Given the description of an element on the screen output the (x, y) to click on. 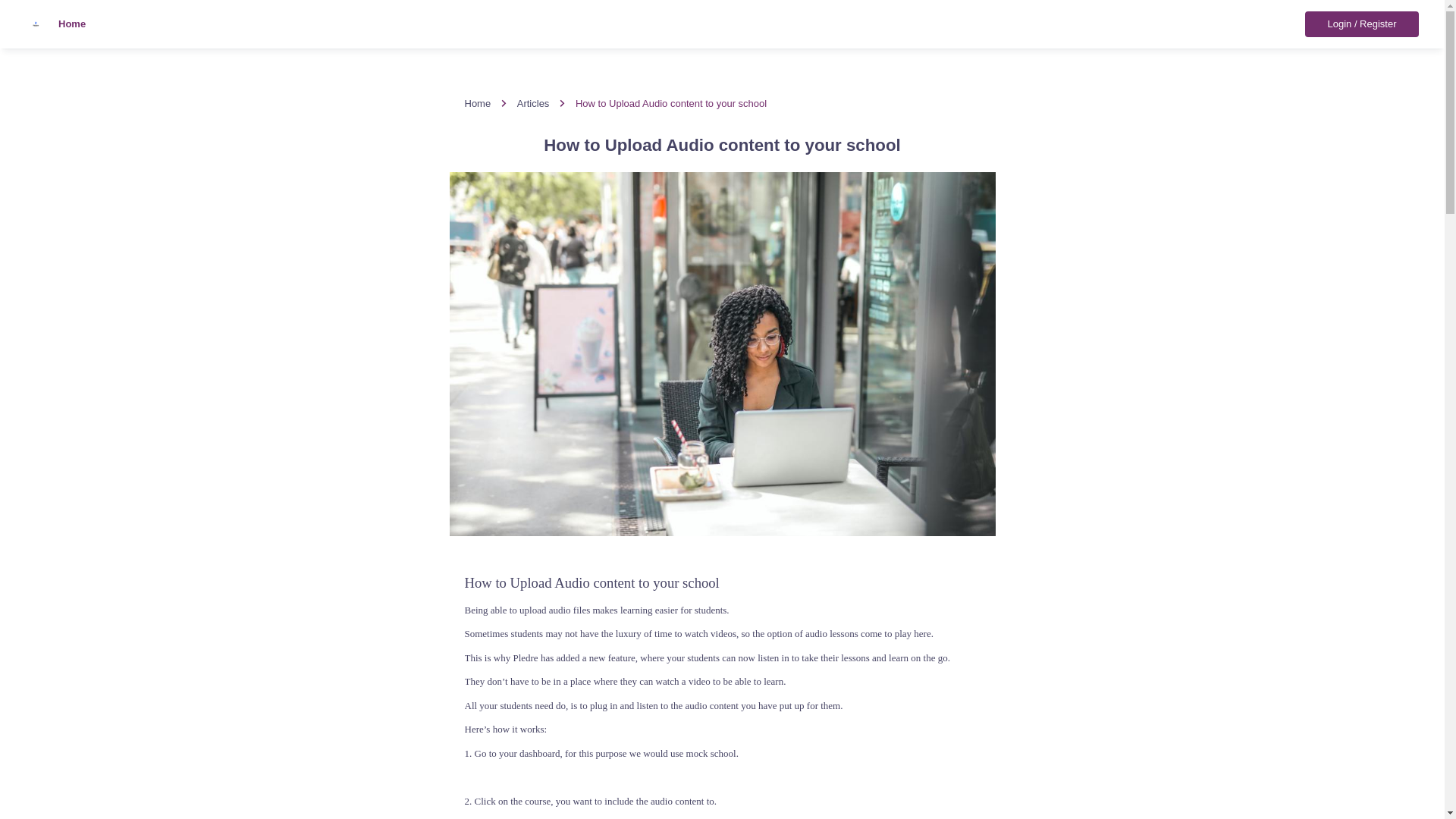
How to Upload Audio content to your school (671, 102)
School Logo (41, 24)
Articles (533, 102)
Home (54, 24)
Home (477, 102)
